Given the description of an element on the screen output the (x, y) to click on. 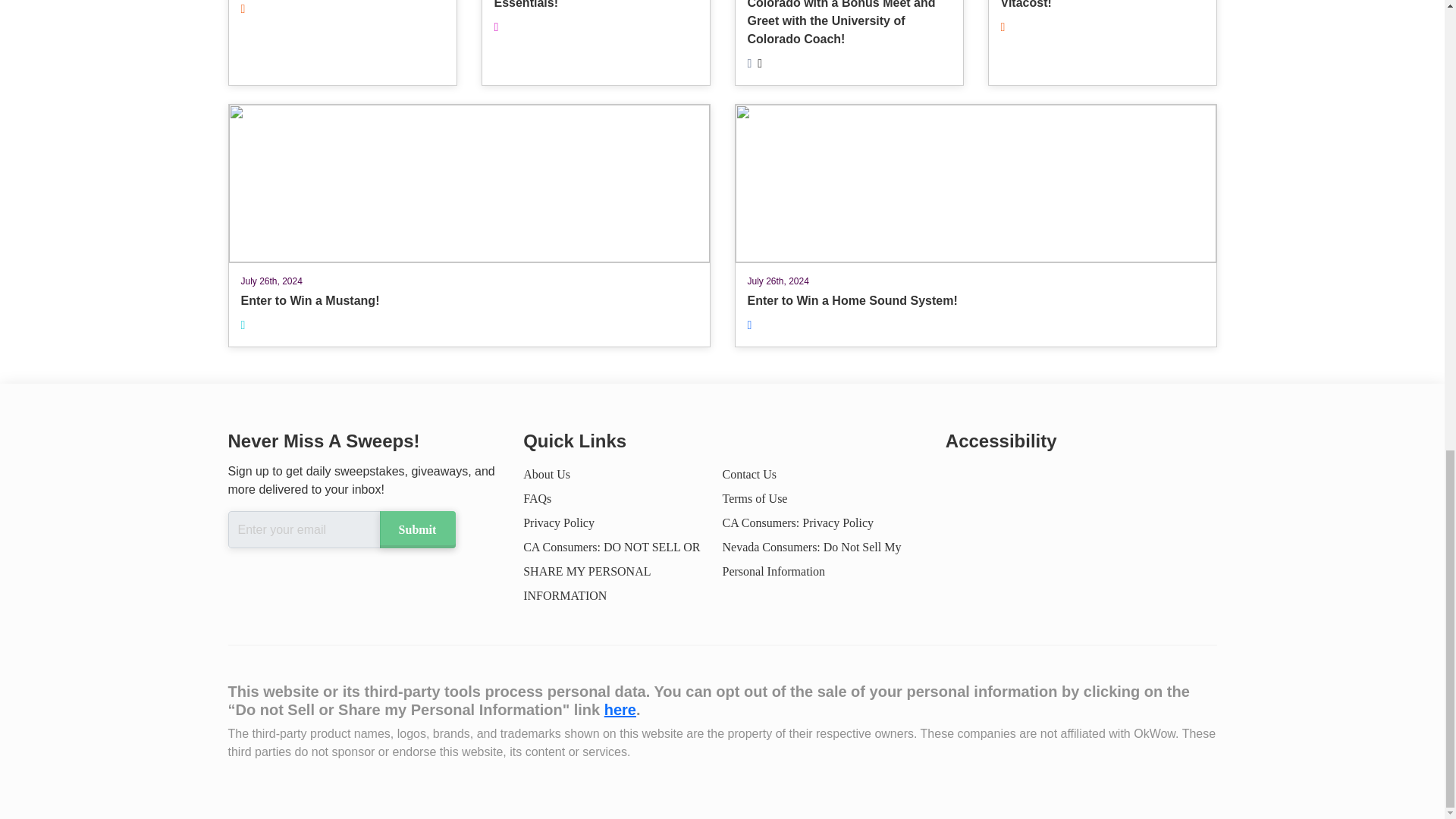
Contact Us (749, 473)
CA Consumers: Privacy Policy (797, 522)
Terms of Use (974, 225)
Privacy Policy (754, 498)
Submit (558, 522)
FAQs (468, 225)
About Us (416, 529)
